Given the description of an element on the screen output the (x, y) to click on. 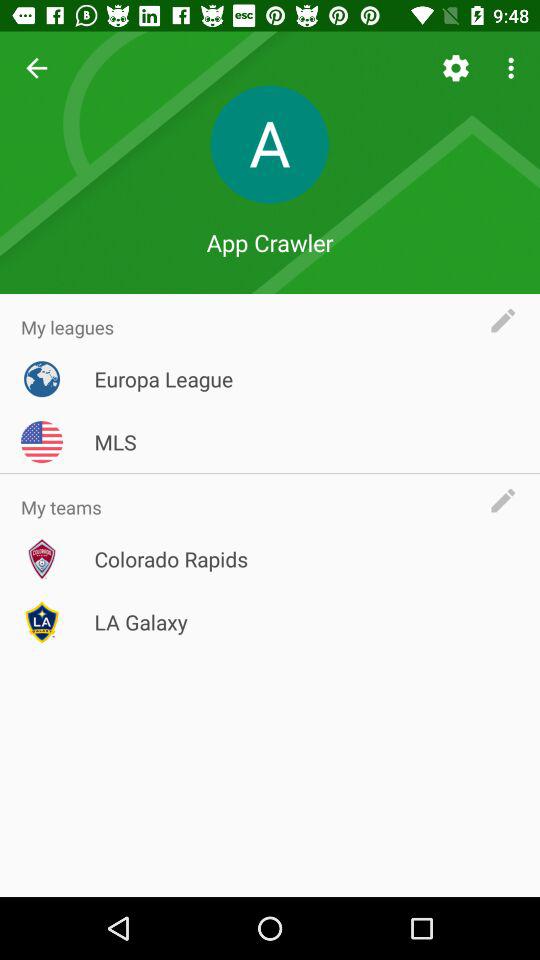
edit my teams (508, 500)
